Given the description of an element on the screen output the (x, y) to click on. 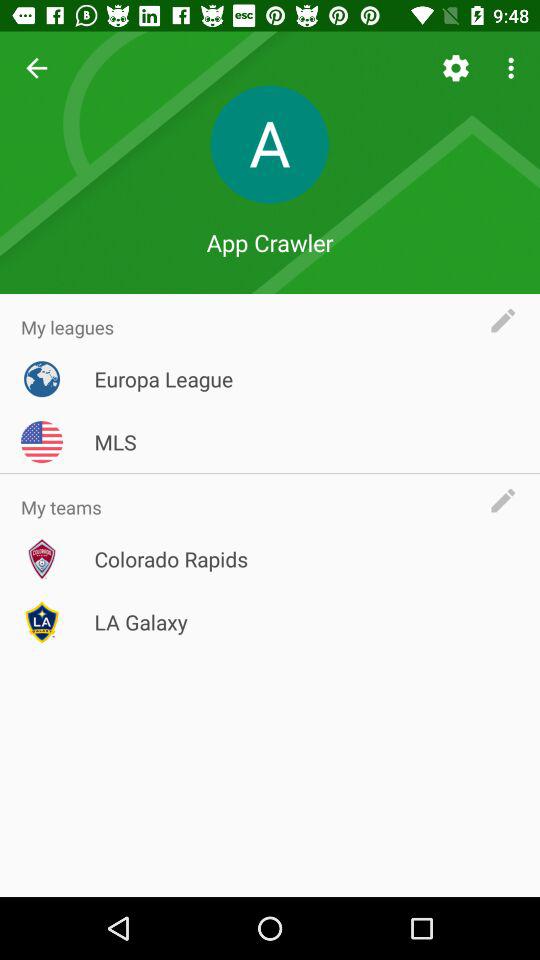
edit my teams (508, 500)
